Given the description of an element on the screen output the (x, y) to click on. 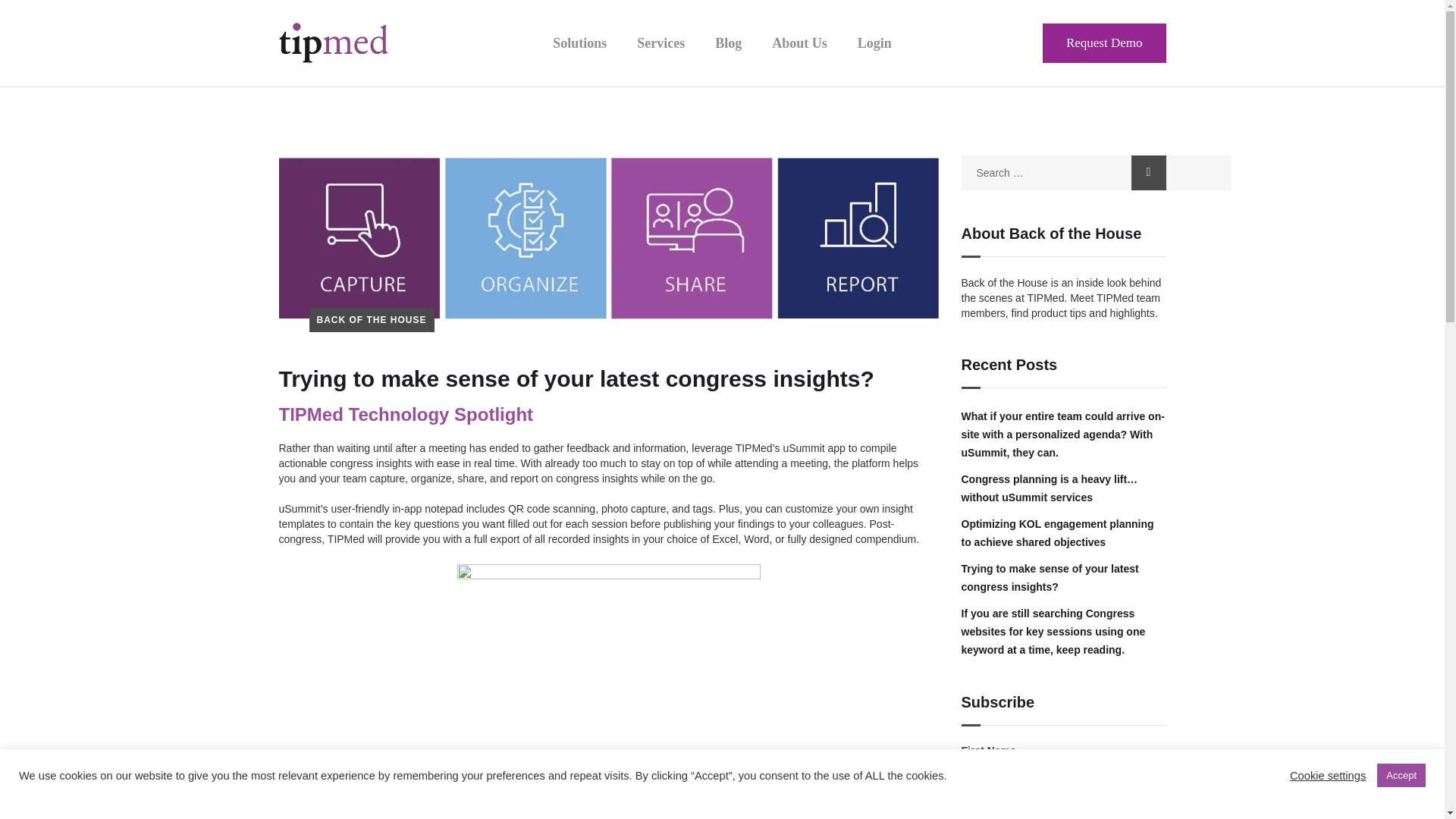
Cookie settings (1327, 775)
Accept (1401, 775)
BACK OF THE HOUSE (370, 319)
Trying to make sense of your latest congress insights? (1063, 577)
Request Demo (1104, 43)
